Given the description of an element on the screen output the (x, y) to click on. 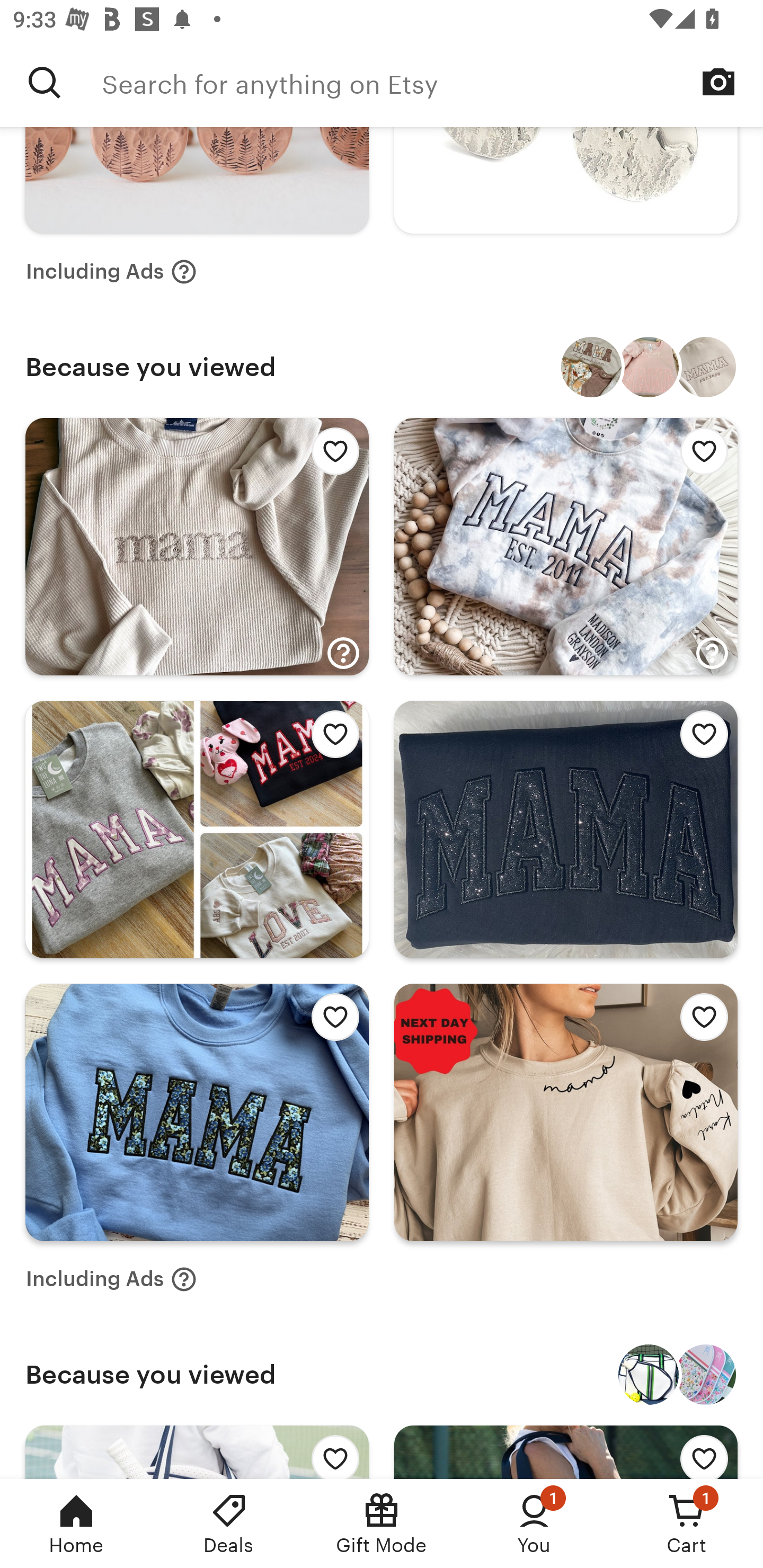
Search for anything on Etsy (44, 82)
Search by image (718, 81)
Search for anything on Etsy (432, 82)
Including Ads (111, 271)
Including Ads (111, 1279)
Flower Preppy Pickleball Paddle (705, 1373)
Deals (228, 1523)
Gift Mode (381, 1523)
You, 1 new notification You (533, 1523)
Cart, 1 new notification Cart (686, 1523)
